Given the description of an element on the screen output the (x, y) to click on. 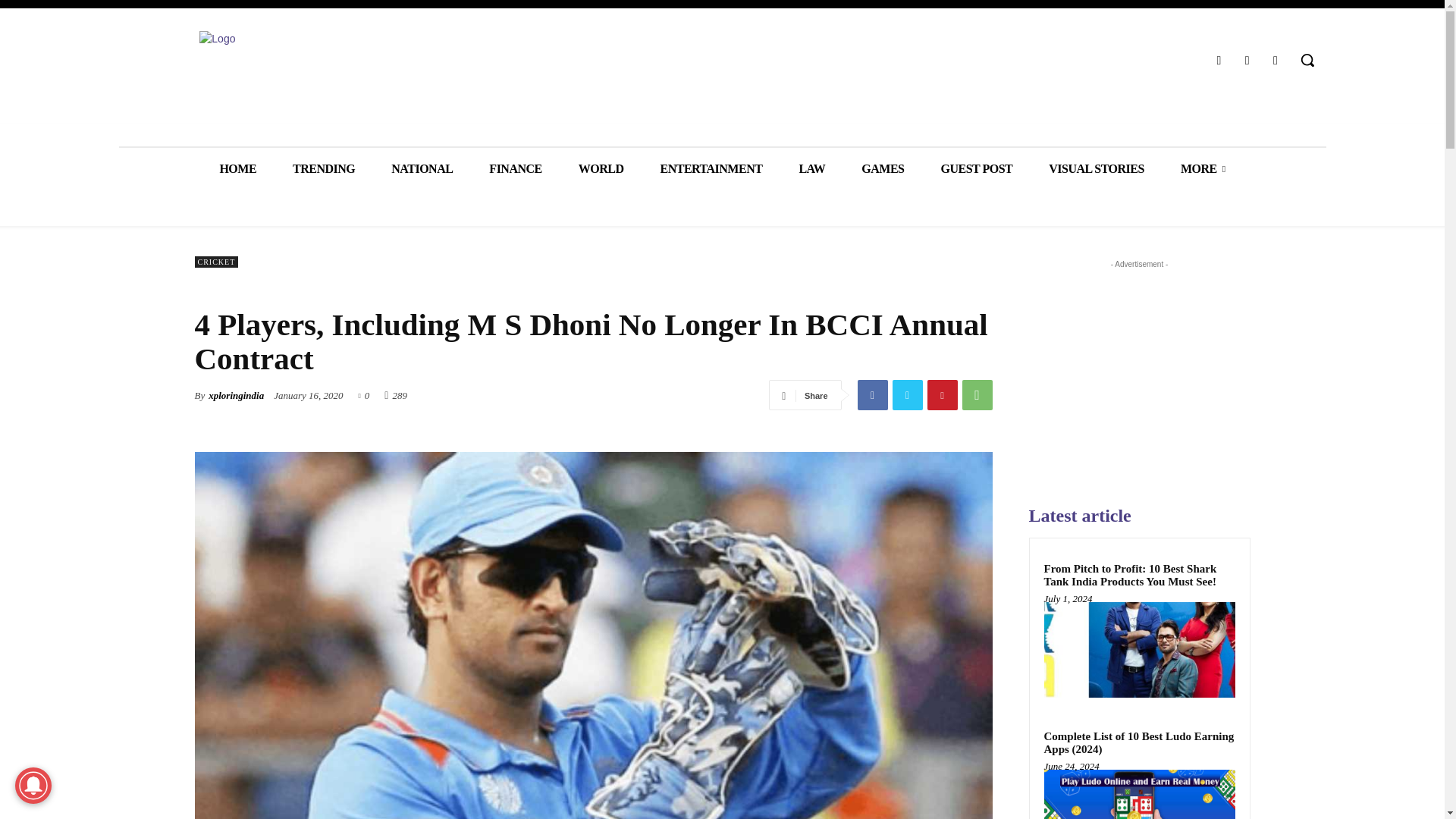
GUEST POST (975, 168)
WORLD (601, 168)
FINANCE (514, 168)
VISUAL STORIES (1095, 168)
Youtube (1275, 59)
MORE (1202, 168)
LAW (811, 168)
HOME (237, 168)
Twitter (906, 395)
Pinterest (941, 395)
TRENDING (323, 168)
GAMES (882, 168)
Facebook (871, 395)
WhatsApp (975, 395)
